Given the description of an element on the screen output the (x, y) to click on. 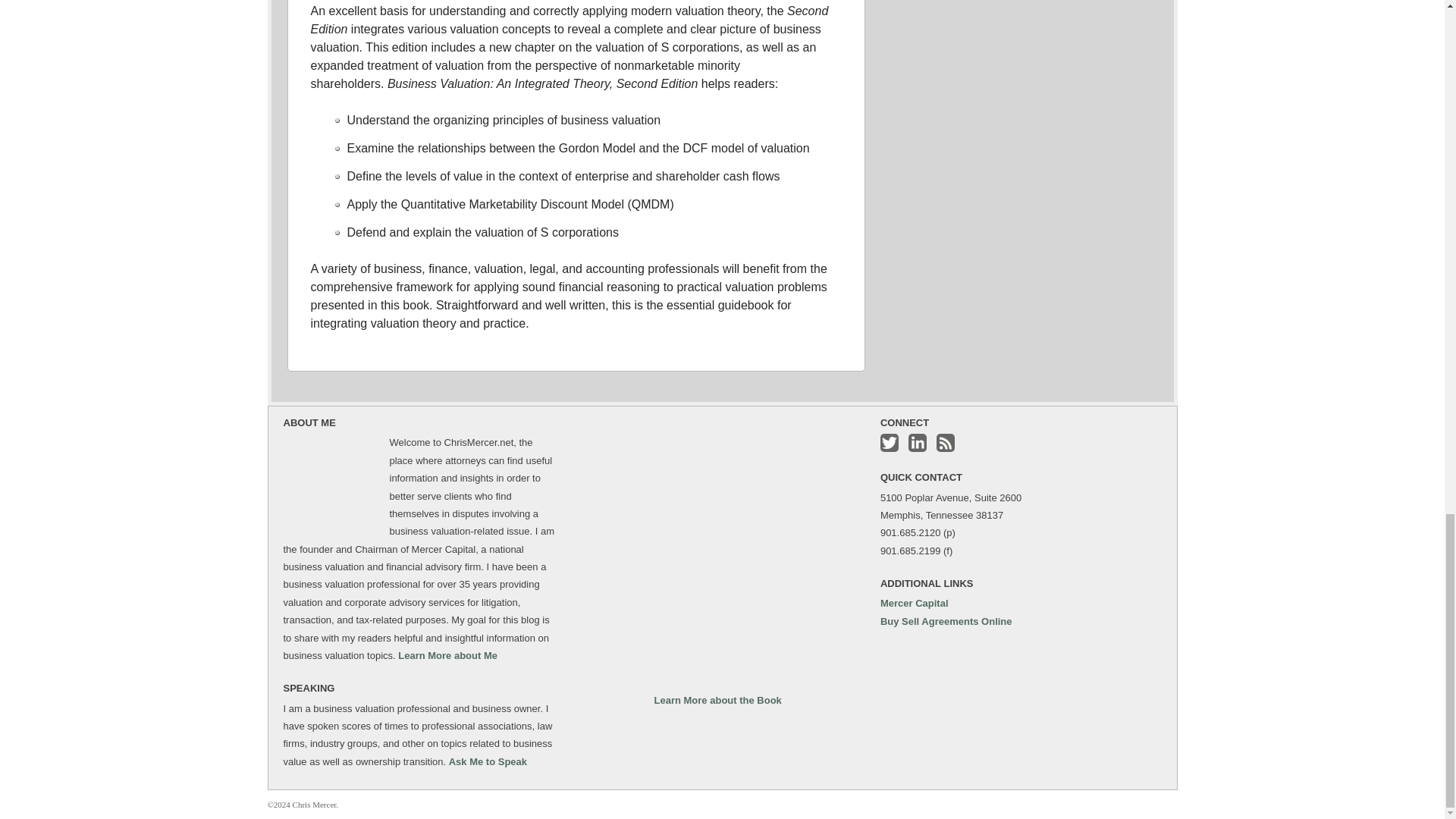
Follow me on Twitter (889, 443)
Subscribe to my RSS Feed (945, 443)
Learn More about Me (447, 655)
Connect with me on LinkedIn (917, 443)
Ask Me to Speak (487, 761)
Learn More about the Book (717, 699)
